Given the description of an element on the screen output the (x, y) to click on. 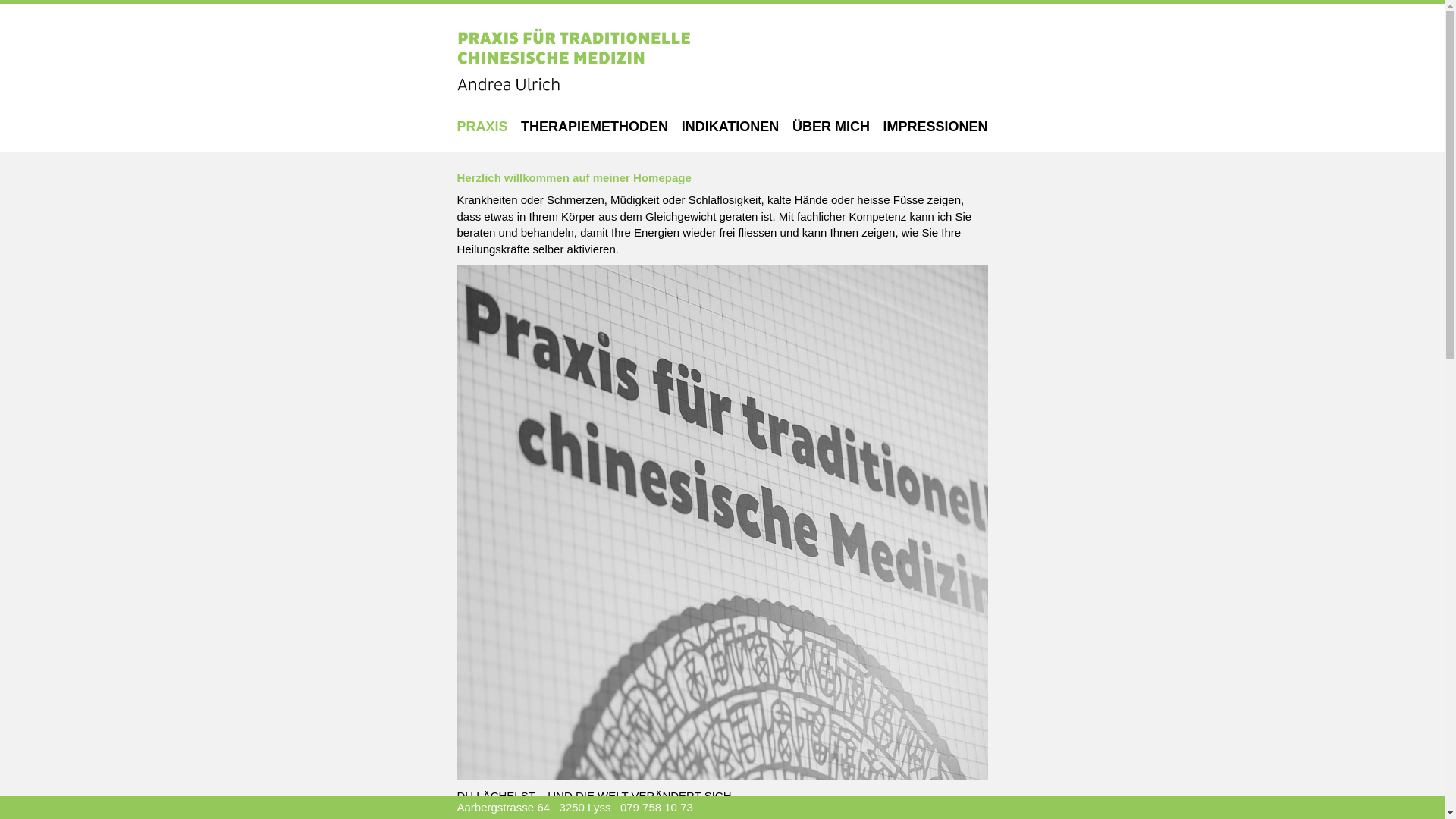
IMPRESSIONEN Element type: text (934, 126)
Praxis Eingang Element type: hover (721, 522)
THERAPIEMETHODEN Element type: text (594, 126)
PRAXIS Element type: text (481, 126)
INDIKATIONEN Element type: text (730, 126)
info@akupunktur-ulrich.ch Element type: text (768, 806)
